Given the description of an element on the screen output the (x, y) to click on. 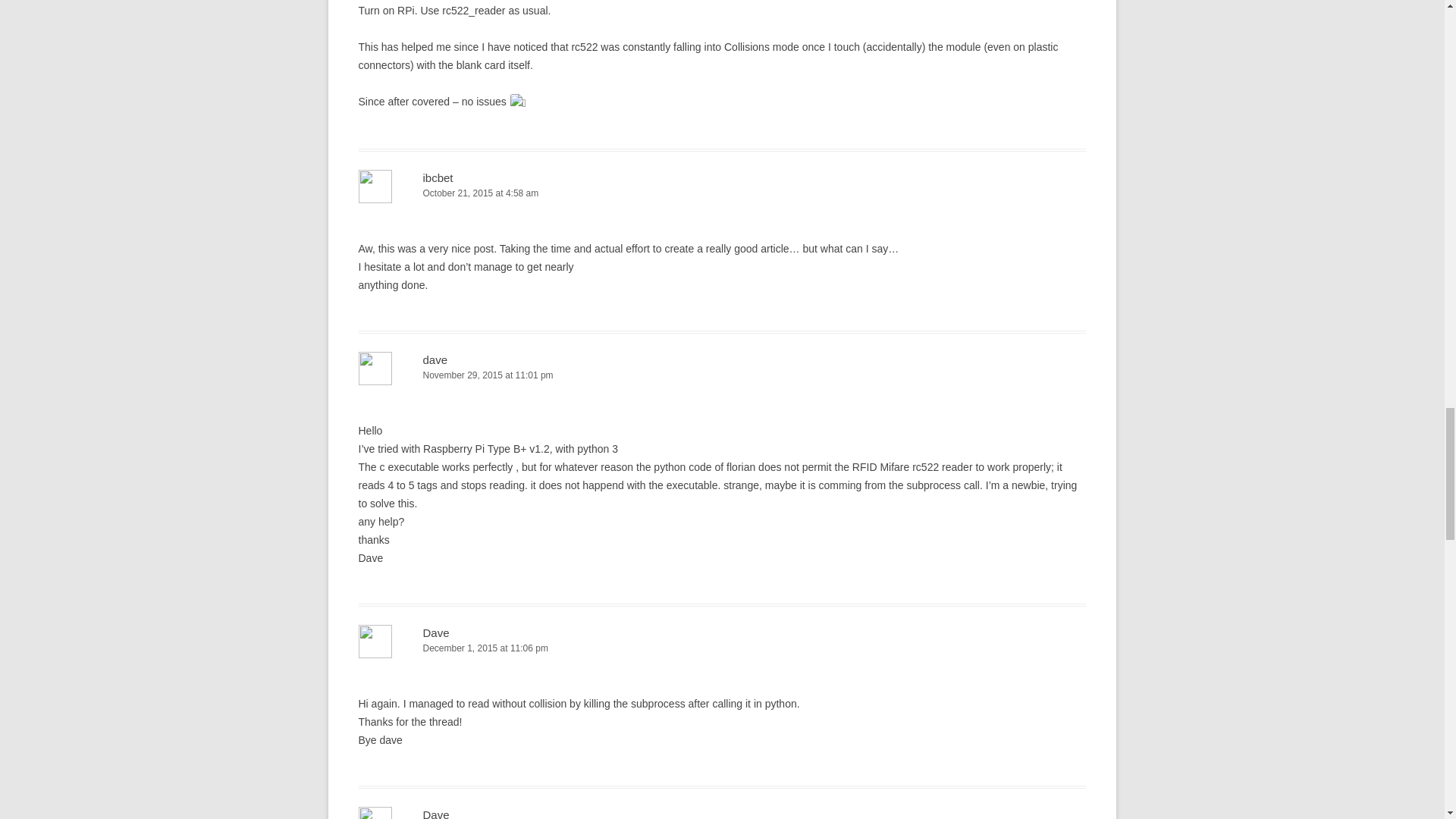
November 29, 2015 at 11:01 pm (722, 375)
December 1, 2015 at 11:06 pm (722, 648)
October 21, 2015 at 4:58 am (722, 193)
ibcbet (437, 177)
